Given the description of an element on the screen output the (x, y) to click on. 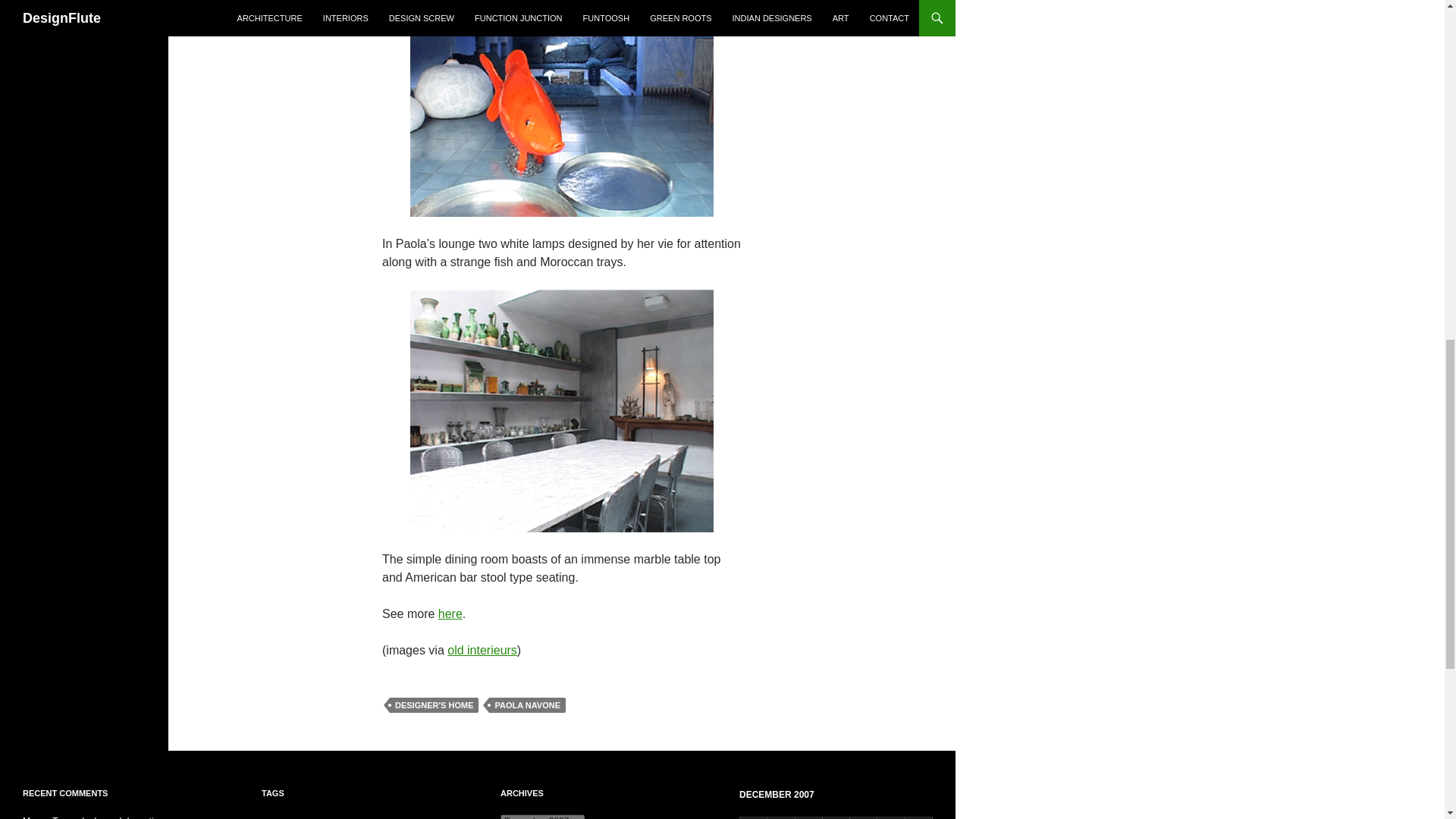
Mason Tog (44, 817)
old interieurs (481, 649)
PAOLA NAVONE (527, 704)
Sunday (919, 818)
Thursday (836, 818)
Saturday (890, 818)
DESIGNER'S HOME (434, 704)
Friday (863, 818)
looks are! deceptive (122, 817)
paolanavone1.gif (561, 93)
